Given the description of an element on the screen output the (x, y) to click on. 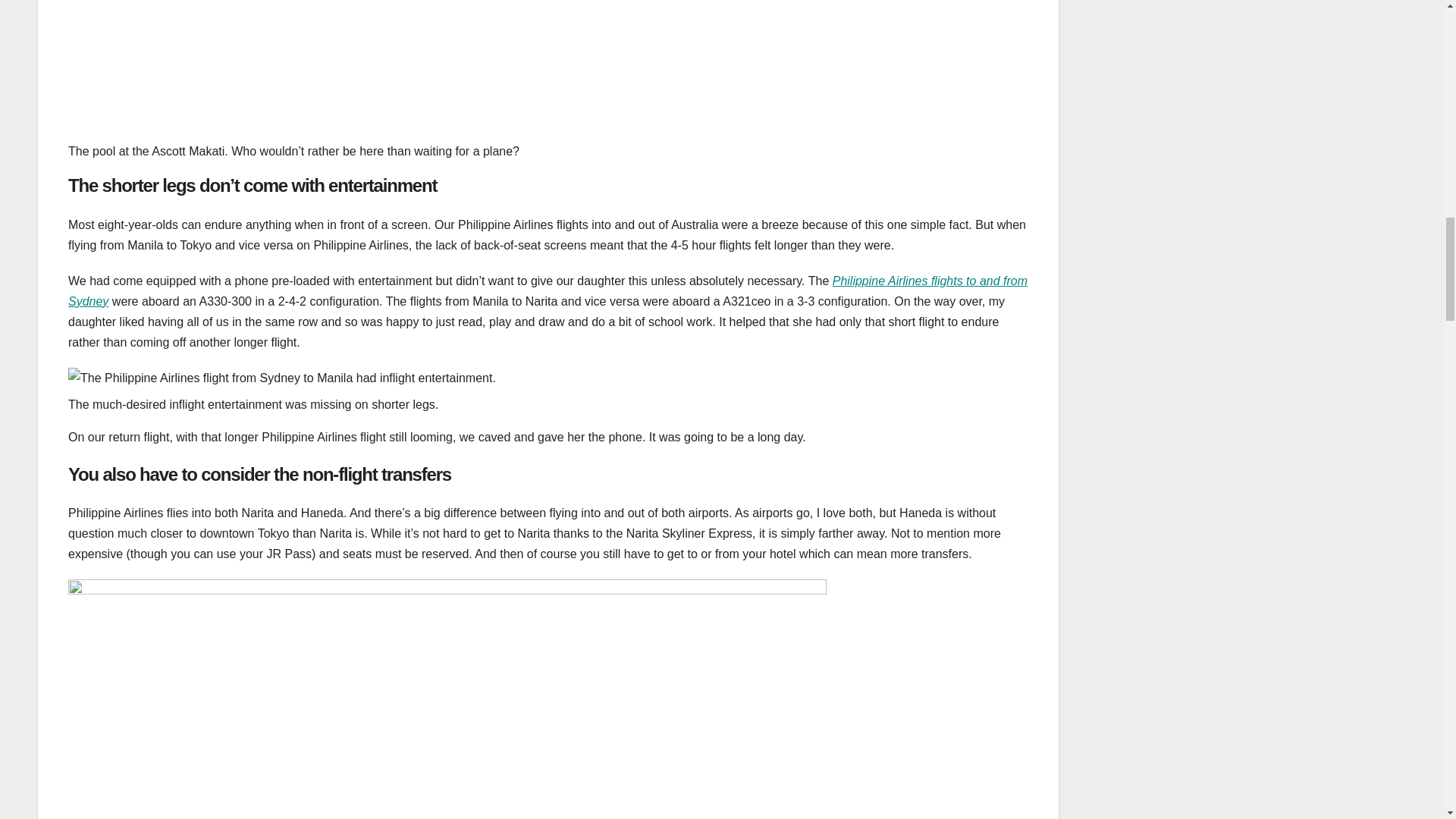
Philippine Airlines flights to and from Sydney (547, 290)
